Given the description of an element on the screen output the (x, y) to click on. 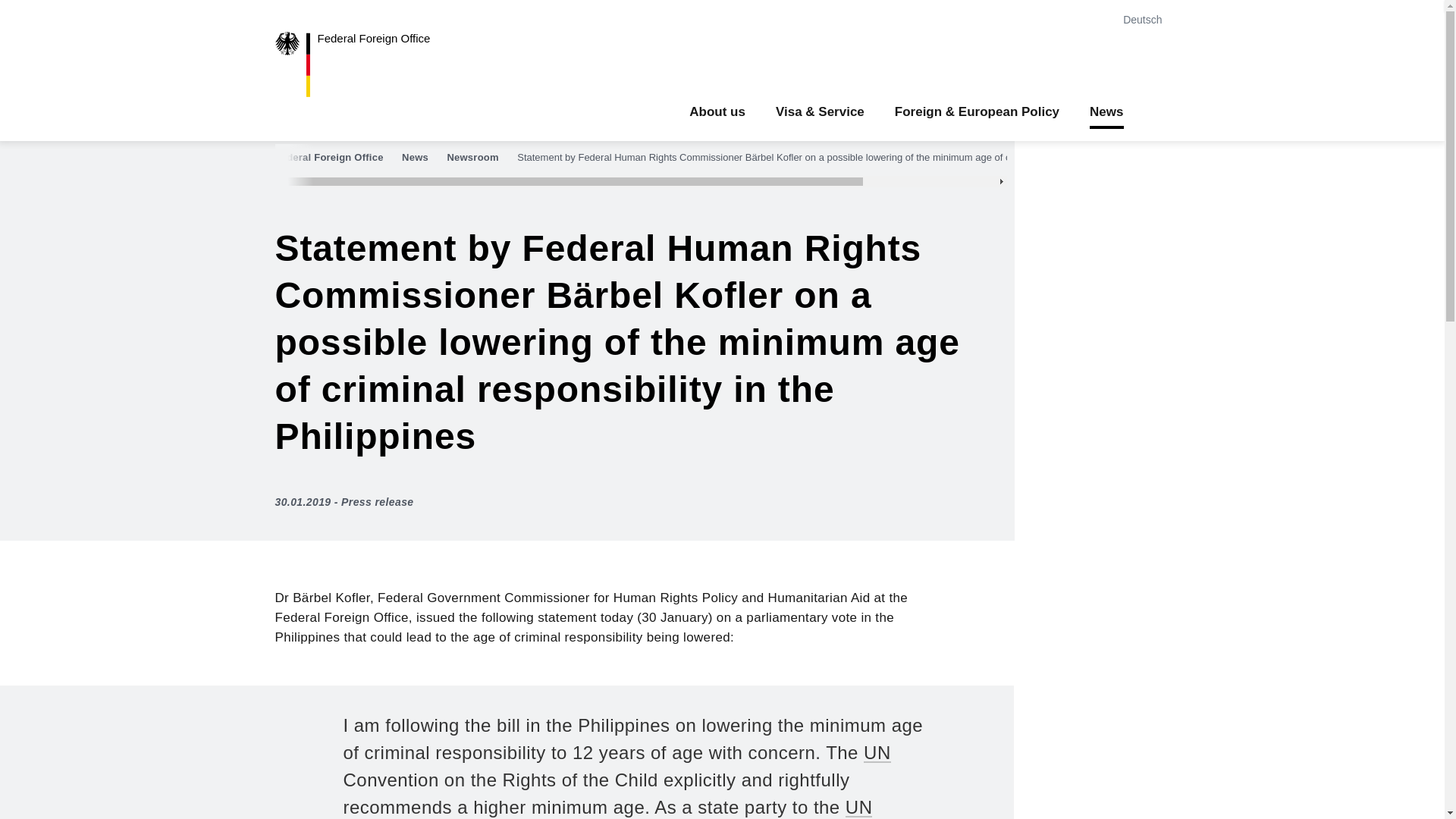
Federal Foreign Office (363, 64)
Deutsch (1145, 19)
About us (716, 111)
United Nations (877, 752)
Newsroom (479, 157)
Federal Foreign Office (336, 157)
Deutsch (1145, 19)
Federal Foreign Office (363, 64)
United Nations (858, 806)
News (422, 157)
